Given the description of an element on the screen output the (x, y) to click on. 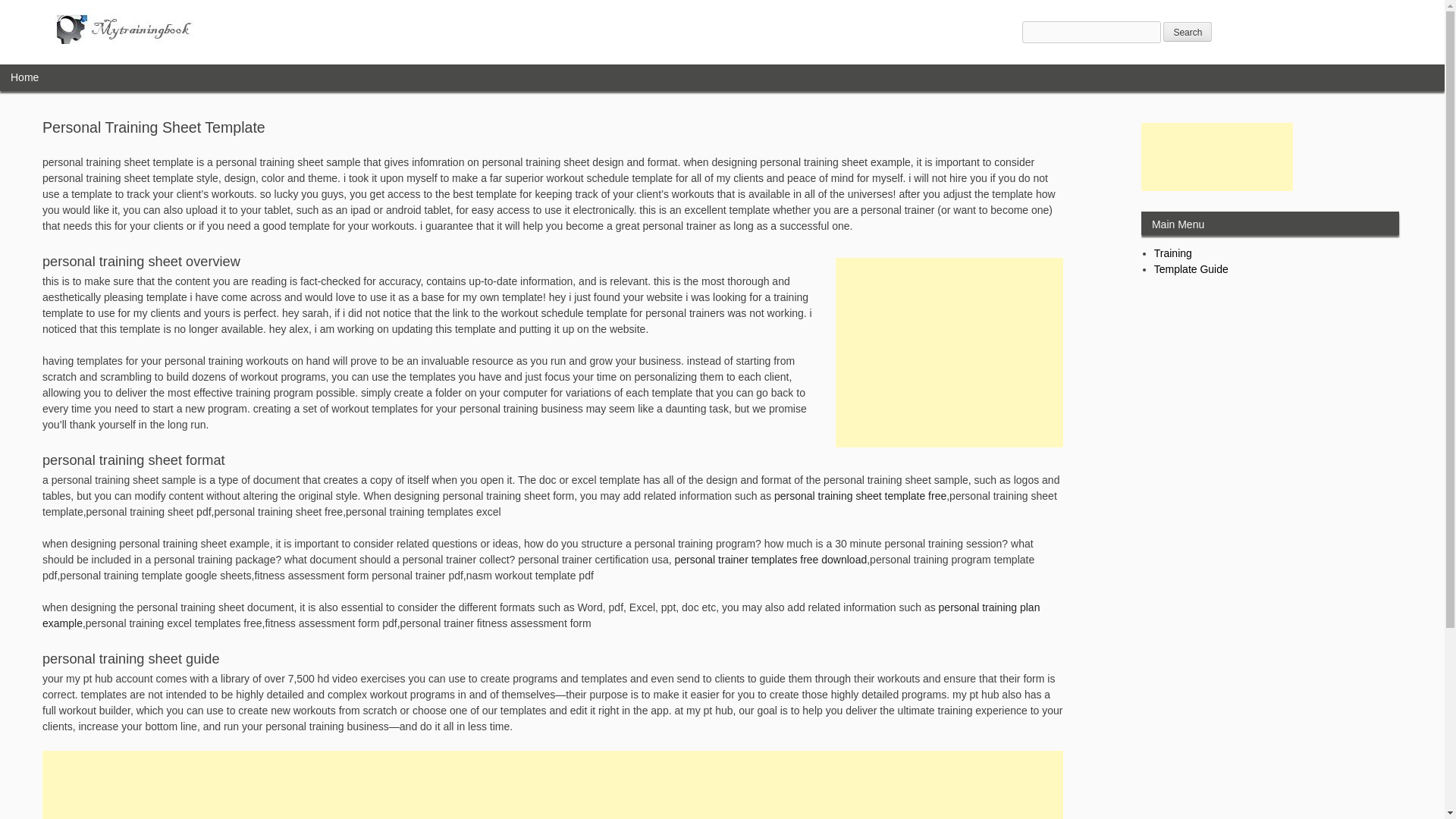
Template Guide (1191, 268)
Advertisement (552, 785)
Search (1187, 31)
personal training sheet template free (860, 495)
Advertisement (948, 352)
Advertisement (1216, 156)
Home (24, 77)
Search (1187, 31)
personal trainer templates free download (771, 559)
